Given the description of an element on the screen output the (x, y) to click on. 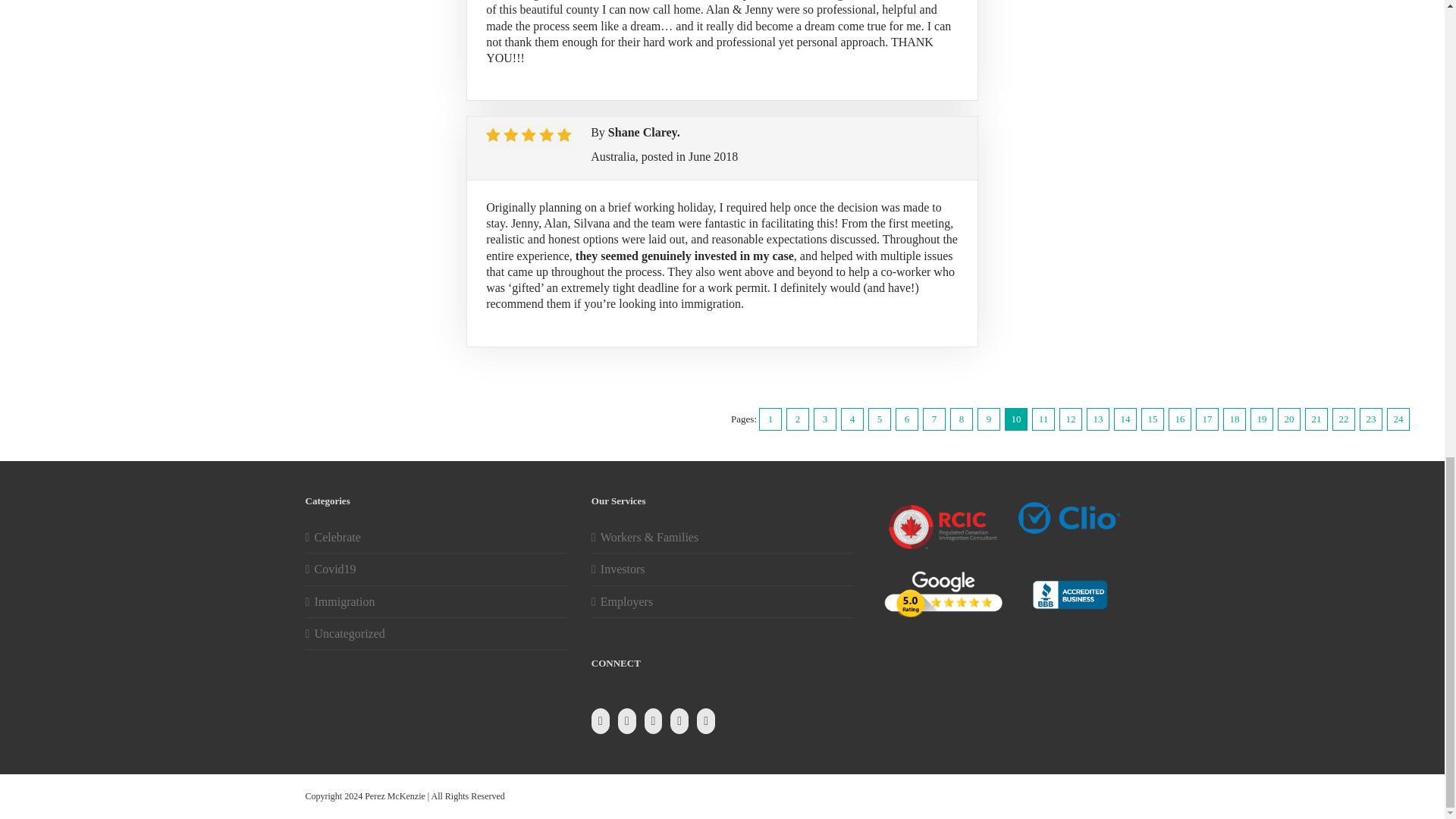
5-star (529, 136)
1 (769, 418)
3 (824, 418)
2 (797, 418)
